Given the description of an element on the screen output the (x, y) to click on. 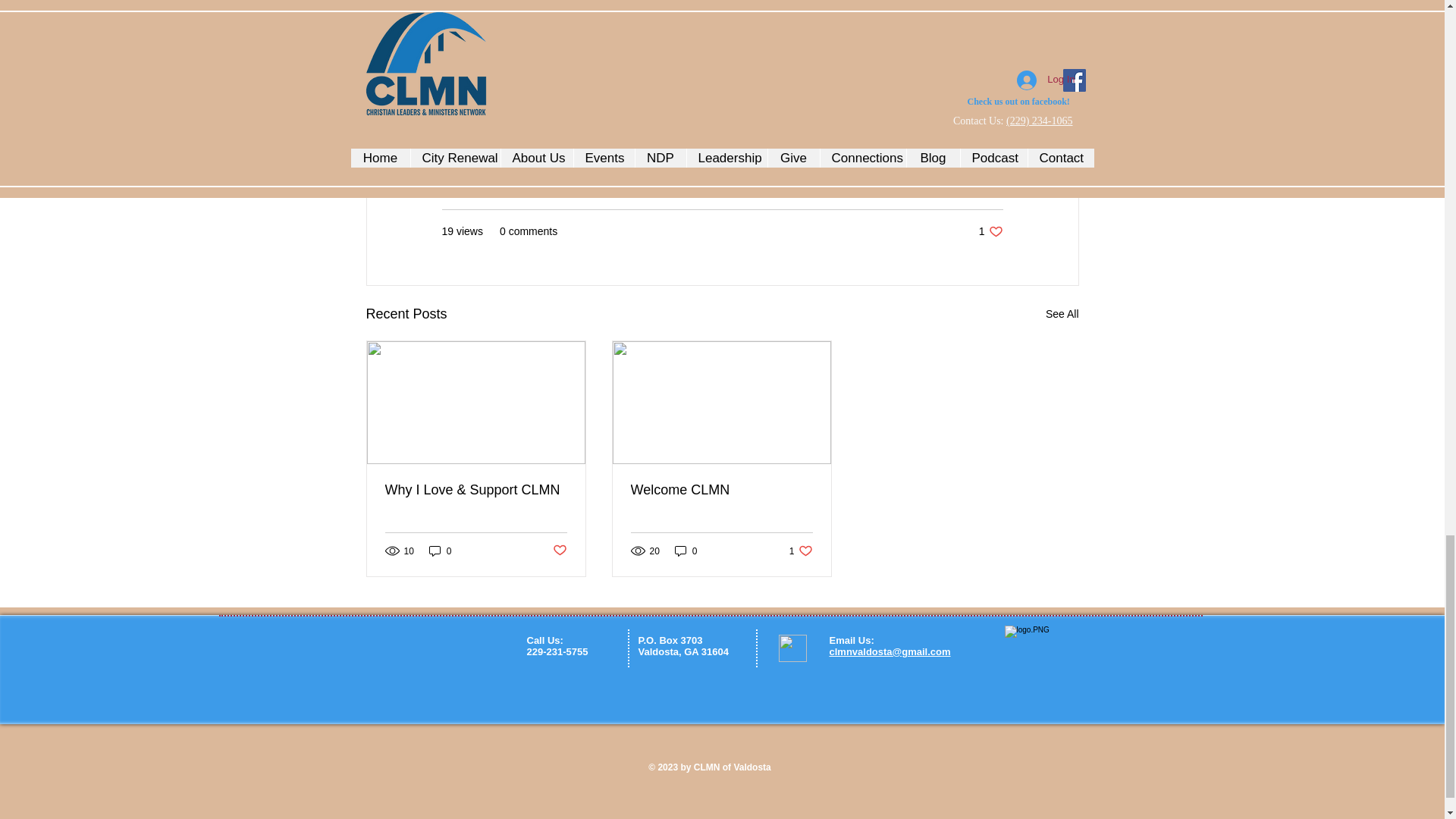
0 (800, 550)
See All (990, 231)
Welcome CLMN (685, 550)
Post not marked as liked (1061, 314)
0 (721, 489)
